Given the description of an element on the screen output the (x, y) to click on. 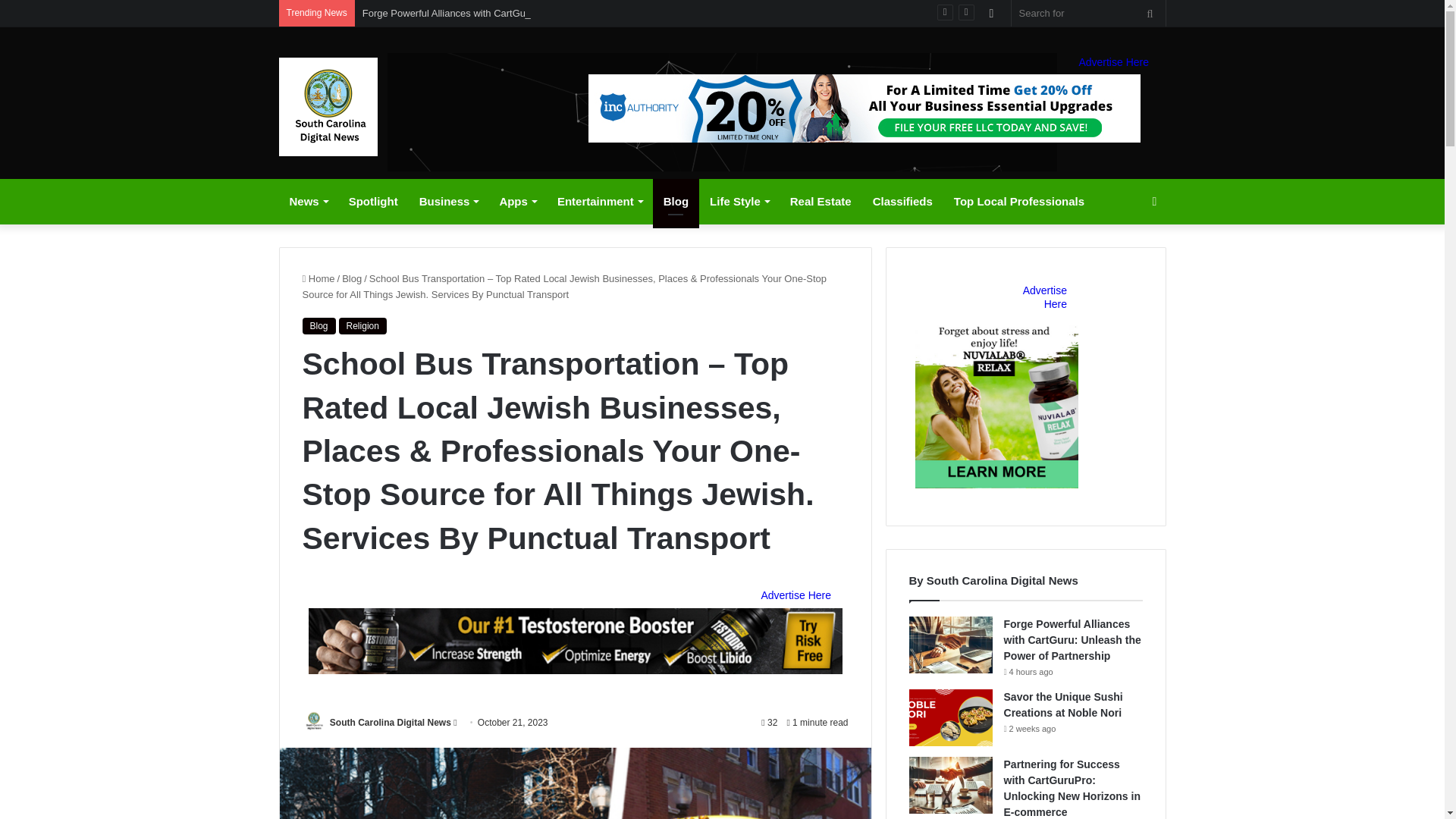
News (308, 201)
Business (449, 201)
Apps (517, 201)
Real Estate (819, 201)
Entertainment (599, 201)
Life Style (738, 201)
Blog (675, 201)
Random Article (991, 13)
Random Article (991, 13)
South Carolina Digital News (328, 106)
South Carolina Digital News (390, 722)
Search for (1088, 13)
Spotlight (373, 201)
Send an email (454, 722)
